Given the description of an element on the screen output the (x, y) to click on. 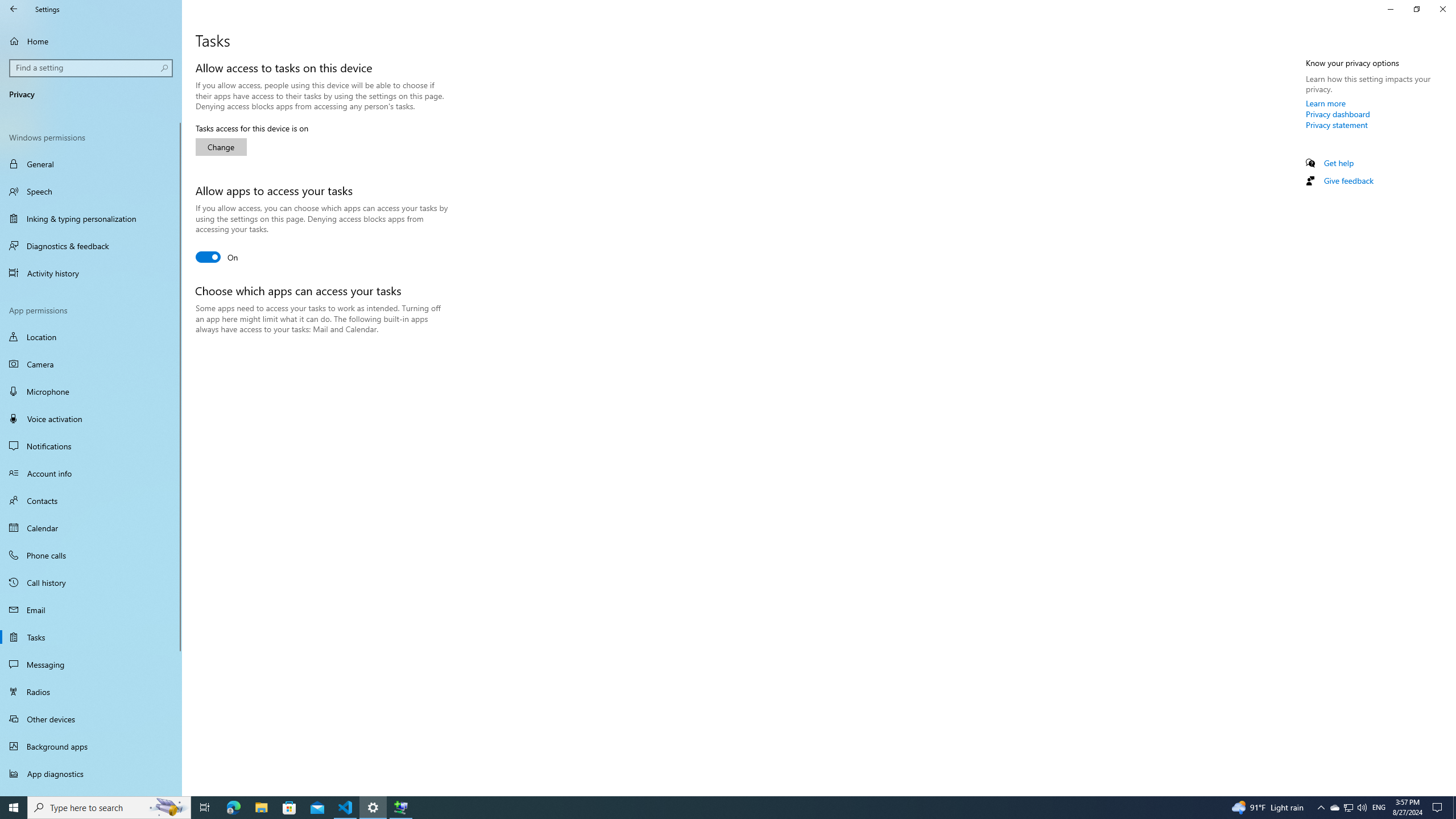
Calendar (91, 527)
Microphone (91, 390)
App diagnostics (91, 773)
Radios (91, 691)
Automatic file downloads (91, 791)
Close Settings (1442, 9)
Voice activation (91, 418)
Learn more (1326, 102)
Restore Settings (1416, 9)
Activity history (91, 272)
Running applications (706, 807)
Other devices (91, 718)
